Given the description of an element on the screen output the (x, y) to click on. 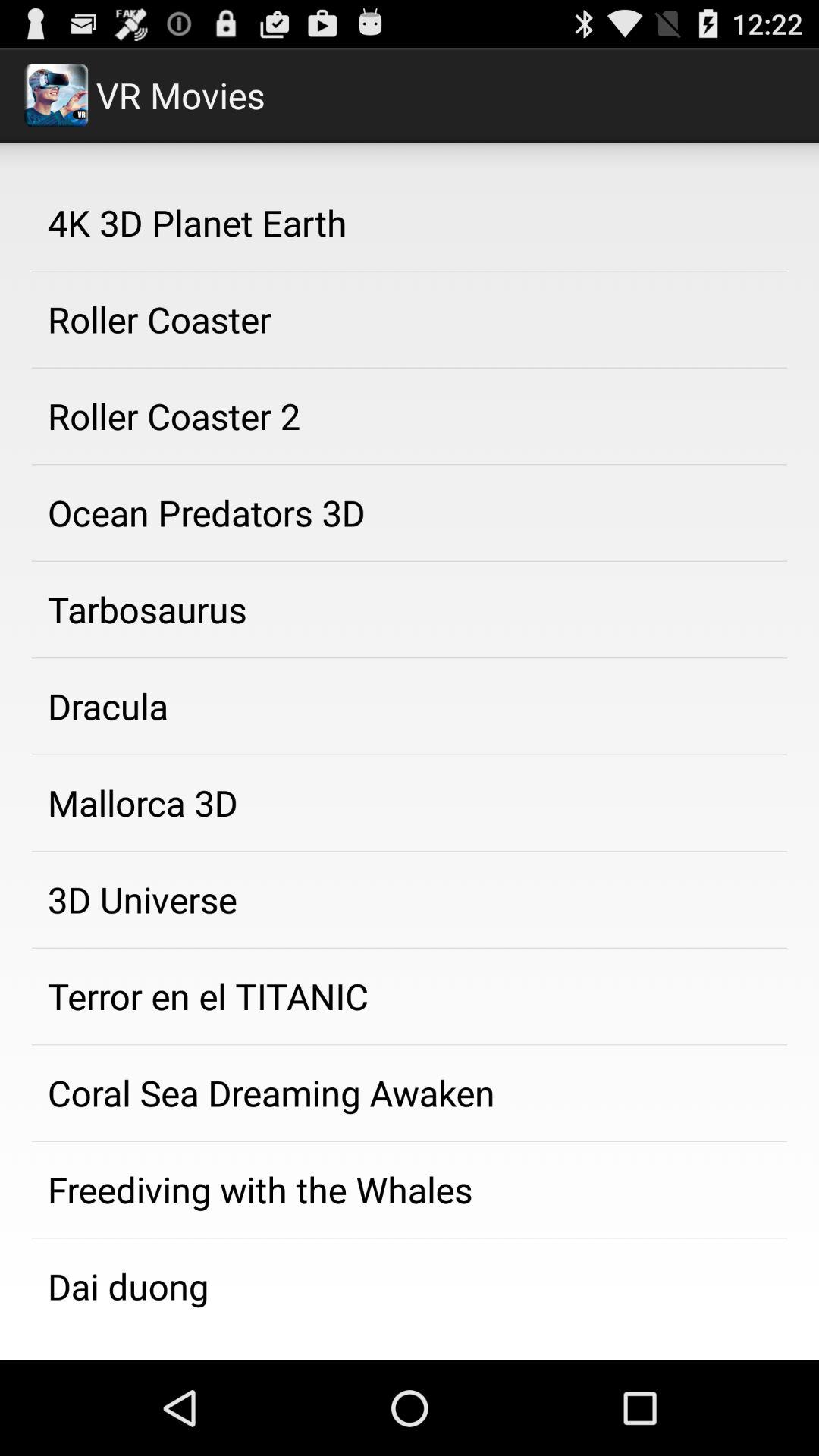
jump until the tarbosaurus app (409, 609)
